Given the description of an element on the screen output the (x, y) to click on. 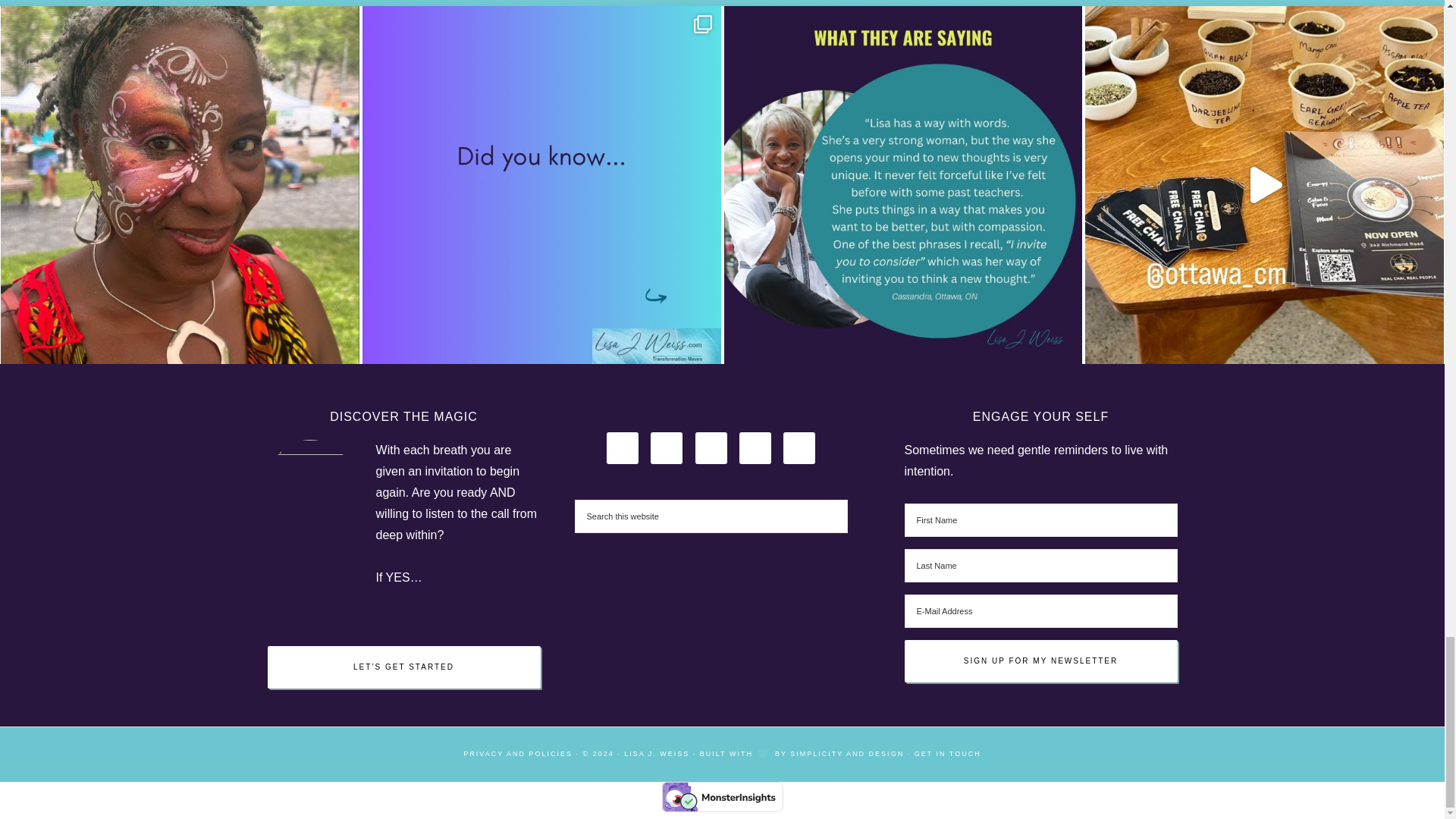
Verified by MonsterInsights (722, 797)
Sign up for my Newsletter (1040, 660)
